Given the description of an element on the screen output the (x, y) to click on. 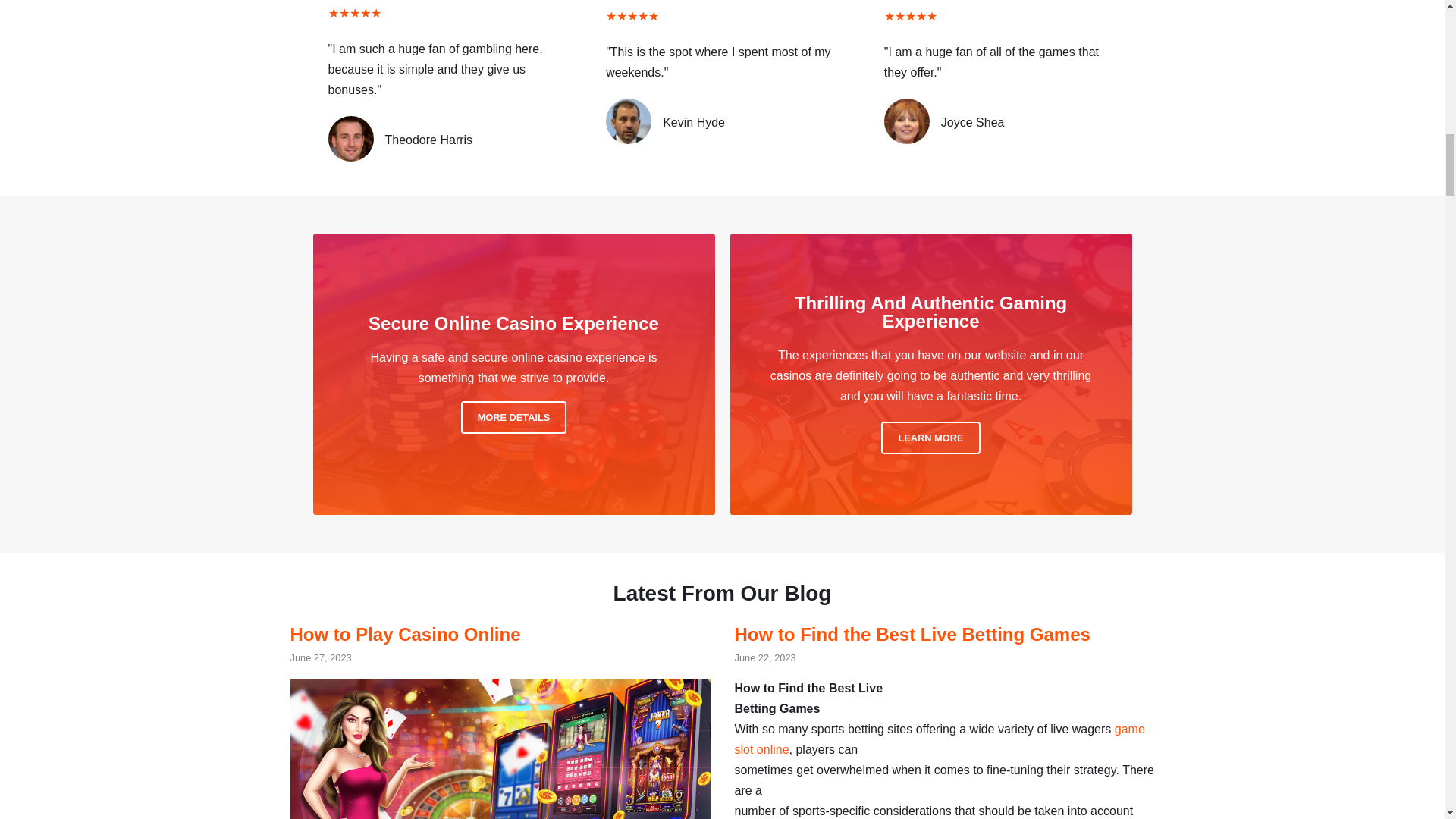
How to Find the Best Live Betting Games (911, 634)
LEARN MORE (929, 437)
June 22, 2023 (763, 657)
game slot online (938, 738)
How to Play Casino Online (404, 634)
1:40 am (763, 657)
2:23 am (319, 657)
June 27, 2023 (319, 657)
MORE DETAILS (514, 417)
